Given the description of an element on the screen output the (x, y) to click on. 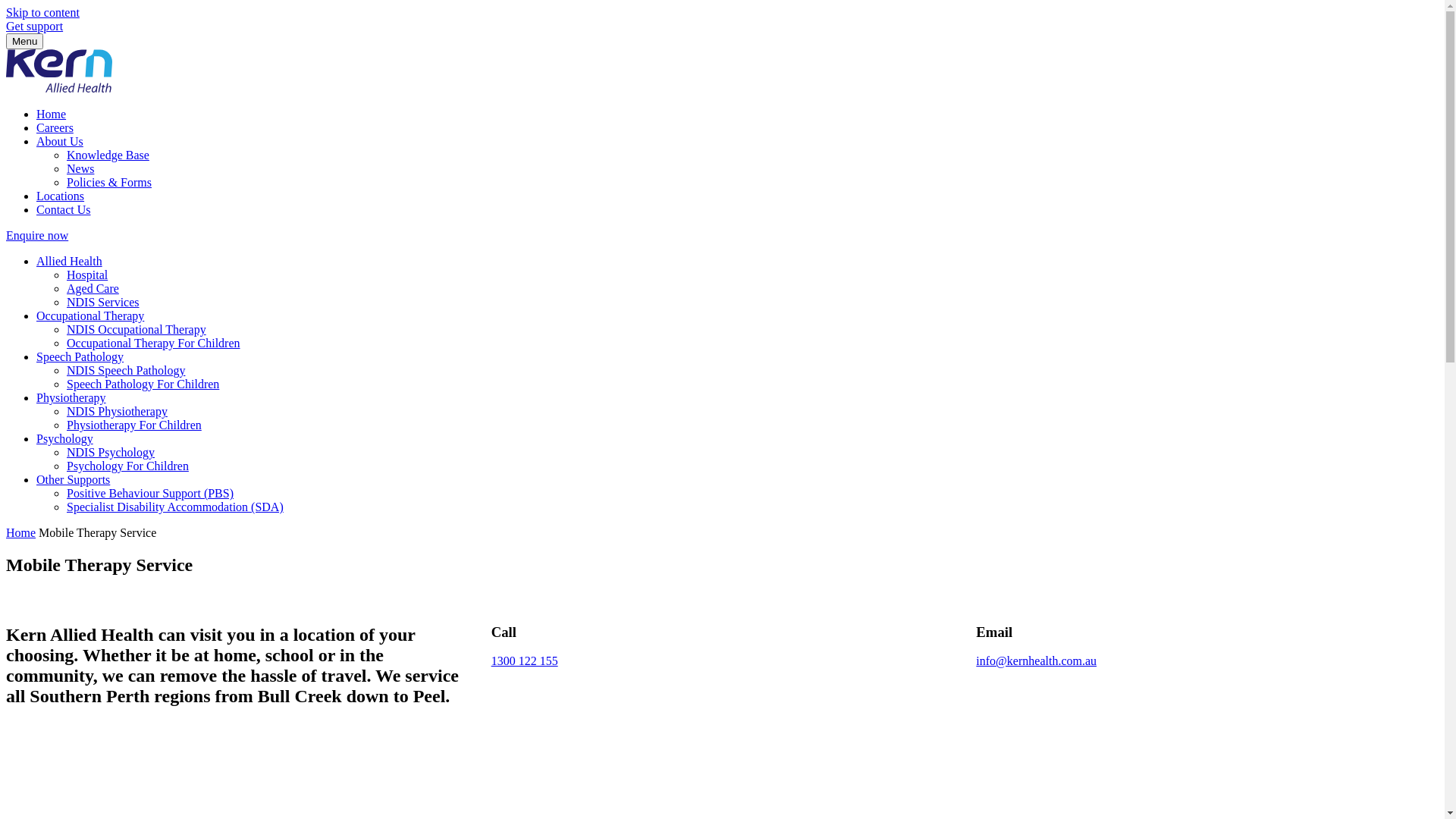
Home Element type: text (20, 532)
NDIS Physiotherapy Element type: text (116, 410)
Aged Care Element type: text (92, 288)
News Element type: text (80, 168)
Other Supports Element type: text (72, 479)
NDIS Occupational Therapy Element type: text (136, 329)
About Us Element type: text (59, 140)
Physiotherapy Element type: text (71, 397)
Physiotherapy For Children Element type: text (133, 424)
Allied Health Element type: text (69, 260)
Careers Element type: text (54, 127)
NDIS Services Element type: text (102, 301)
Psychology For Children Element type: text (127, 465)
NDIS Psychology Element type: text (110, 451)
Psychology Element type: text (64, 438)
Hospital Element type: text (86, 274)
Enquire now Element type: text (37, 235)
1300 122 155 Element type: text (524, 660)
Speech Pathology Element type: text (79, 356)
Policies & Forms Element type: text (108, 181)
Menu Element type: text (24, 41)
info@kernhealth.com.au Element type: text (1035, 660)
Locations Element type: text (60, 195)
Specialist Disability Accommodation (SDA) Element type: text (174, 506)
Speech Pathology For Children Element type: text (142, 383)
Occupational Therapy For Children Element type: text (153, 342)
NDIS Speech Pathology Element type: text (125, 370)
Contact Us Element type: text (63, 209)
Home Element type: text (50, 113)
Knowledge Base Element type: text (107, 154)
Positive Behaviour Support (PBS) Element type: text (149, 492)
Occupational Therapy Element type: text (90, 315)
Get support Element type: text (34, 25)
Skip to content Element type: text (42, 12)
